Given the description of an element on the screen output the (x, y) to click on. 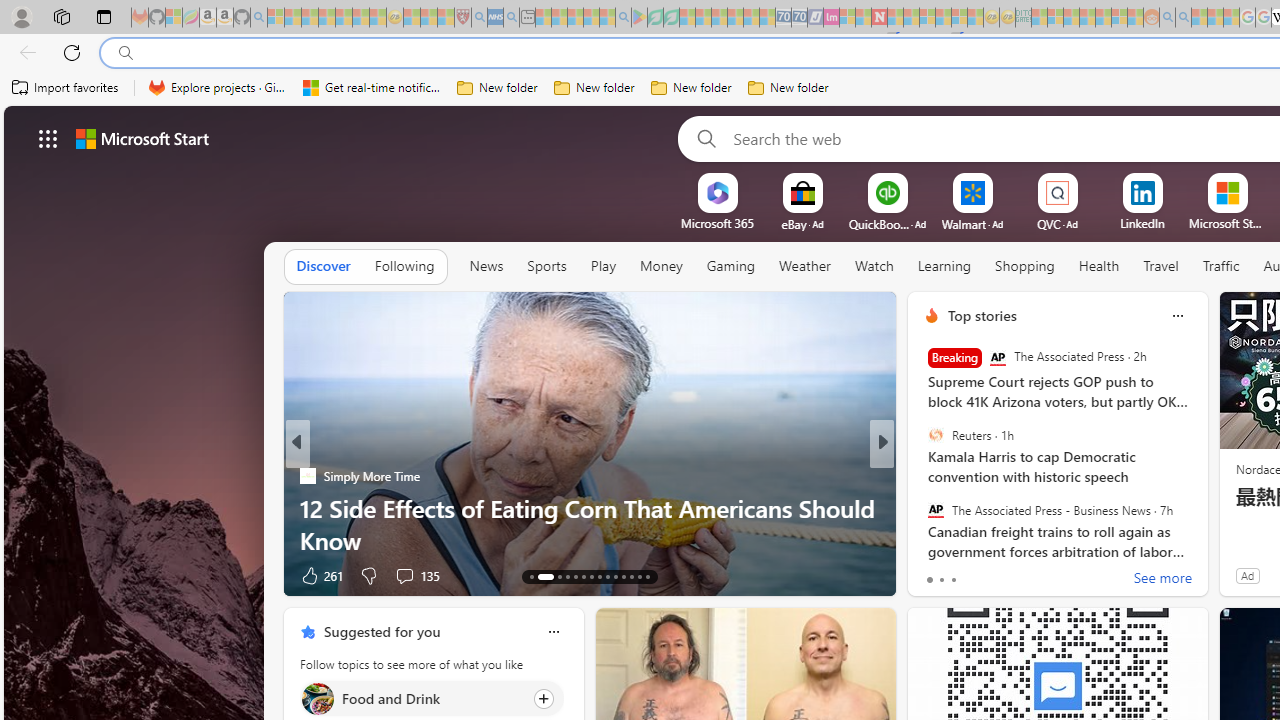
AutomationID: tab-16 (567, 576)
AutomationID: tab-13 (531, 576)
Import favorites (65, 88)
Body Network (923, 475)
View comments 2 Comment (1019, 574)
App launcher (47, 138)
